Given the description of an element on the screen output the (x, y) to click on. 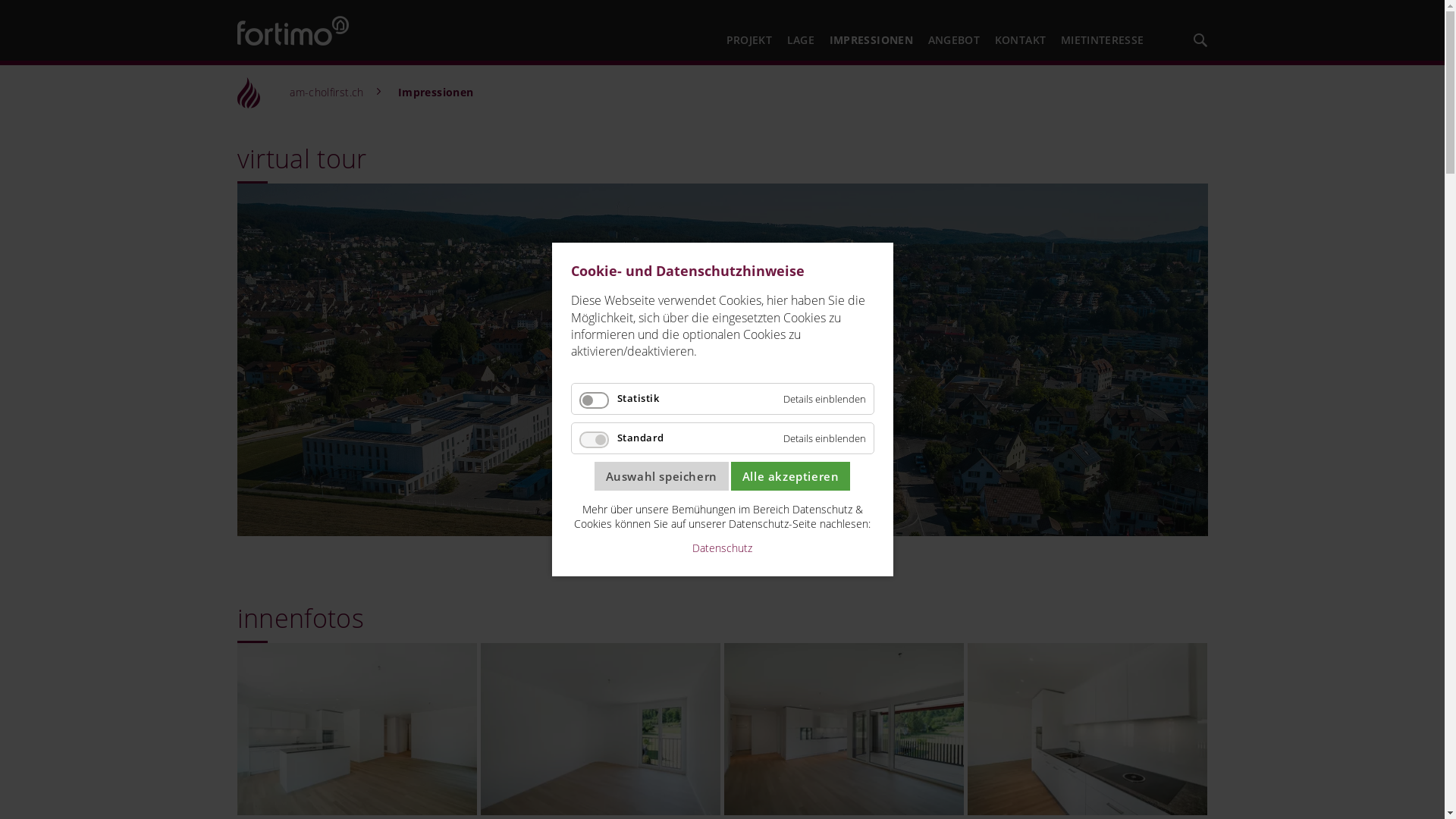
Datenschutz Element type: text (722, 548)
Alle akzeptieren Element type: text (790, 475)
Fortimo durchsuchen Element type: hover (1200, 40)
Auswahl speichern Element type: text (661, 475)
ANGEBOT Element type: text (953, 40)
LAGE Element type: text (800, 40)
Details einblenden Element type: text (823, 398)
am-cholfirst.ch Element type: text (325, 91)
MIETINTERESSE Element type: text (1102, 40)
Details einblenden Element type: text (823, 438)
KONTAKT Element type: text (1020, 40)
PROJEKT Element type: text (748, 40)
